Given the description of an element on the screen output the (x, y) to click on. 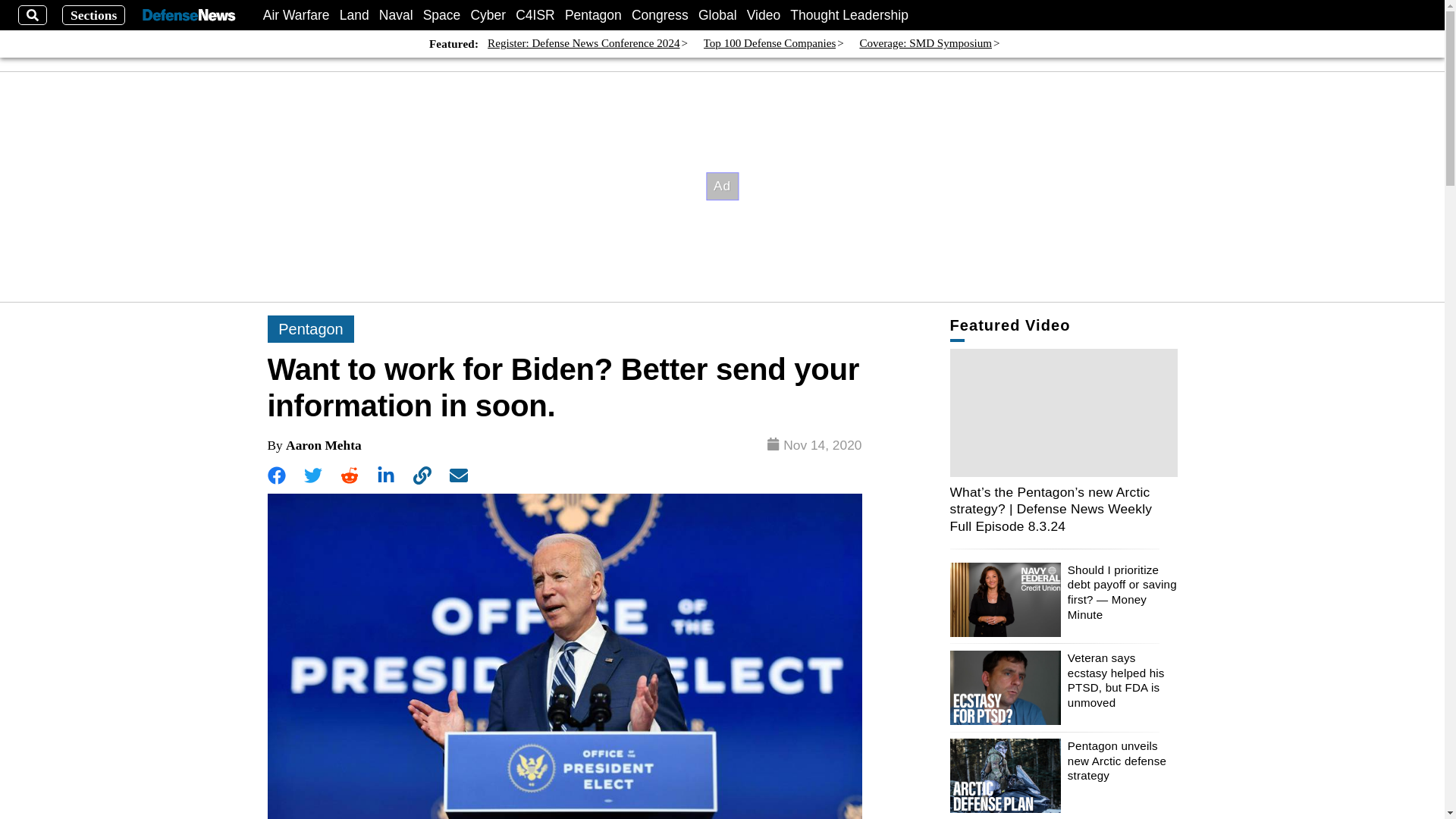
Naval (395, 14)
Land (354, 14)
Congress (659, 14)
Sections (93, 14)
Air Warfare (296, 14)
Space (442, 14)
Pentagon (592, 14)
Defense News Logo (188, 14)
Thought Leadership (849, 14)
Video (763, 14)
Global (717, 14)
